Given the description of an element on the screen output the (x, y) to click on. 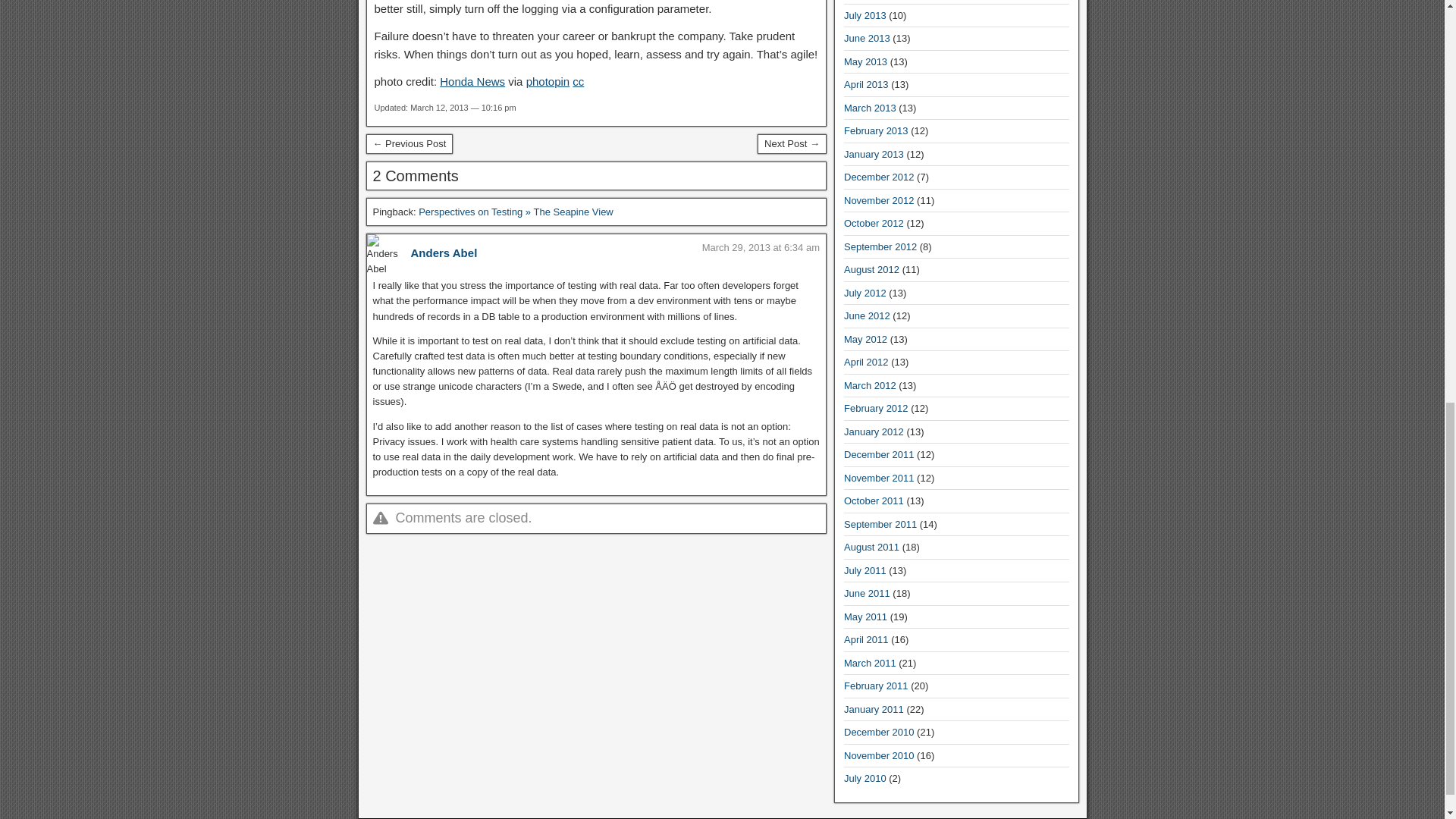
May 2013 (865, 61)
March 29, 2013 at 6:34 am (760, 247)
June 2013 (866, 38)
March 2013 (870, 107)
The Simplest Way To Get More Done Is To Do Less (408, 143)
Honda News (472, 81)
April 2013 (866, 84)
cc (577, 81)
photopin (547, 81)
Anders Abel (443, 252)
July 2013 (865, 15)
